Given the description of an element on the screen output the (x, y) to click on. 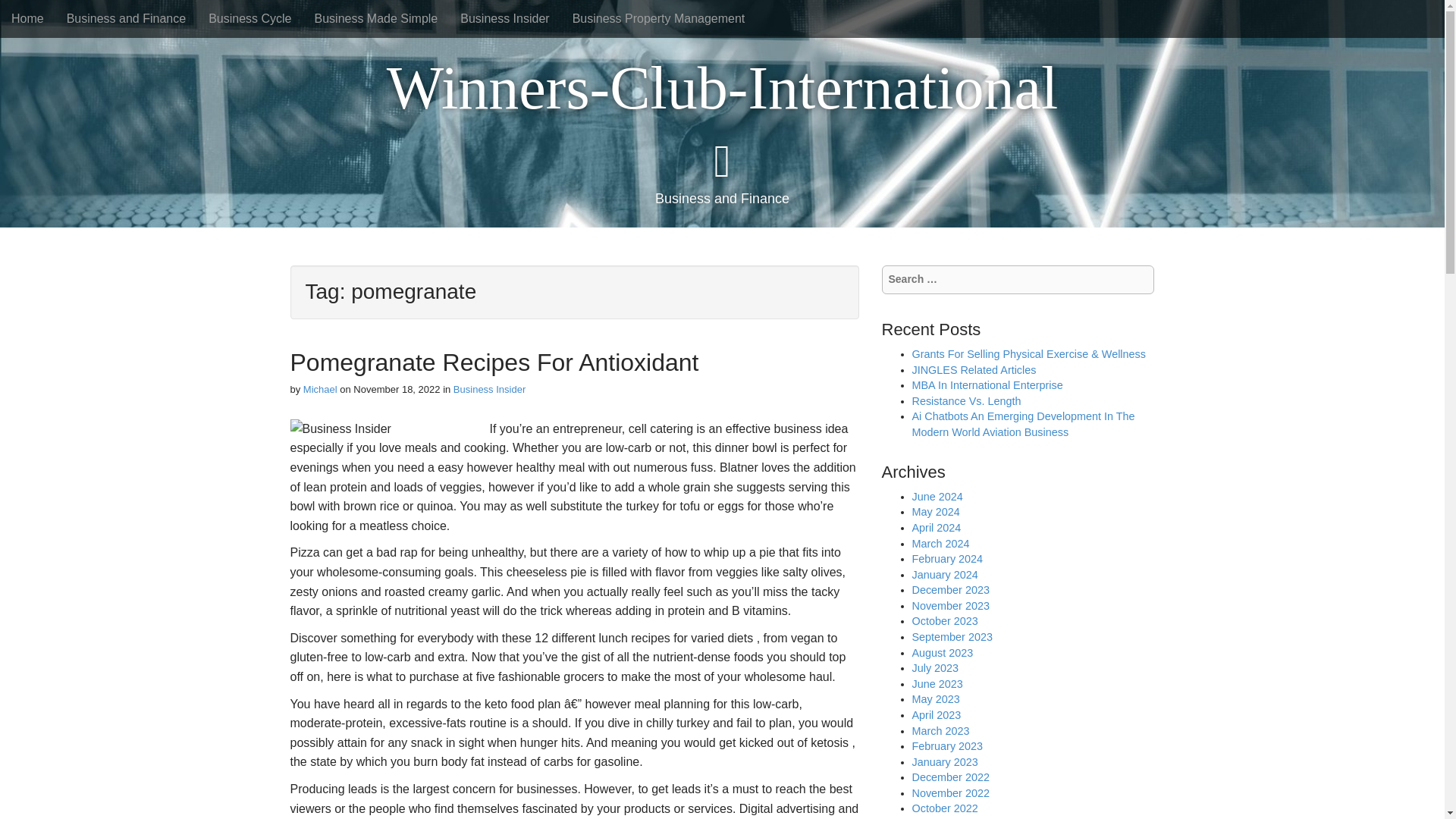
November 2023 (949, 605)
January 2023 (943, 761)
November 18, 2022 (396, 389)
Posts by Michael (319, 389)
Michael (319, 389)
August 2023 (941, 653)
Search (23, 14)
Business Insider (504, 18)
Home (27, 18)
Business Cycle (249, 18)
April 2024 (935, 527)
October 2023 (943, 621)
June 2023 (936, 684)
March 2024 (940, 543)
November 2022 (949, 793)
